Given the description of an element on the screen output the (x, y) to click on. 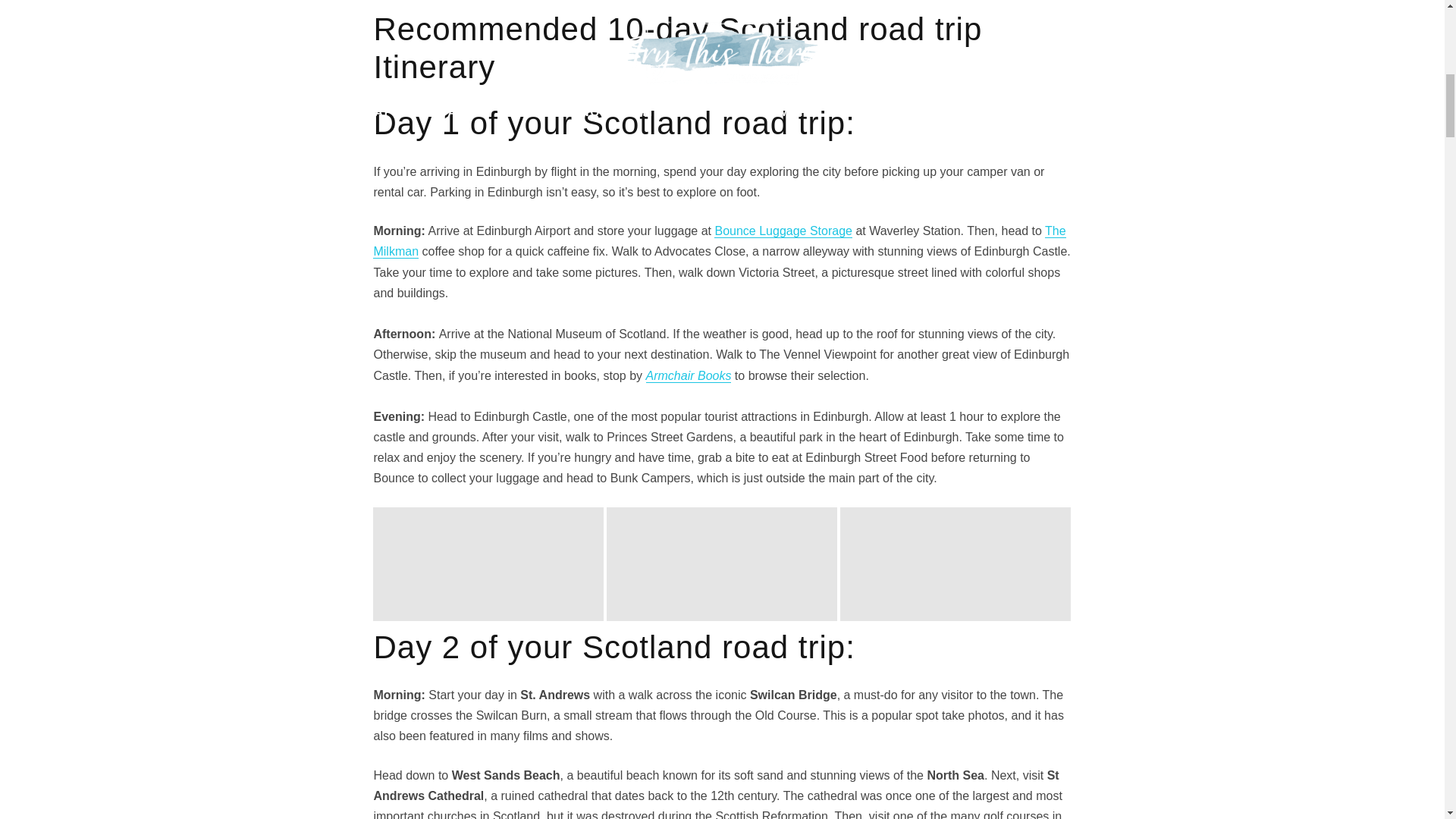
Bounce Luggage Storage (782, 231)
Armchair Books (689, 376)
The Milkman (718, 241)
